Given the description of an element on the screen output the (x, y) to click on. 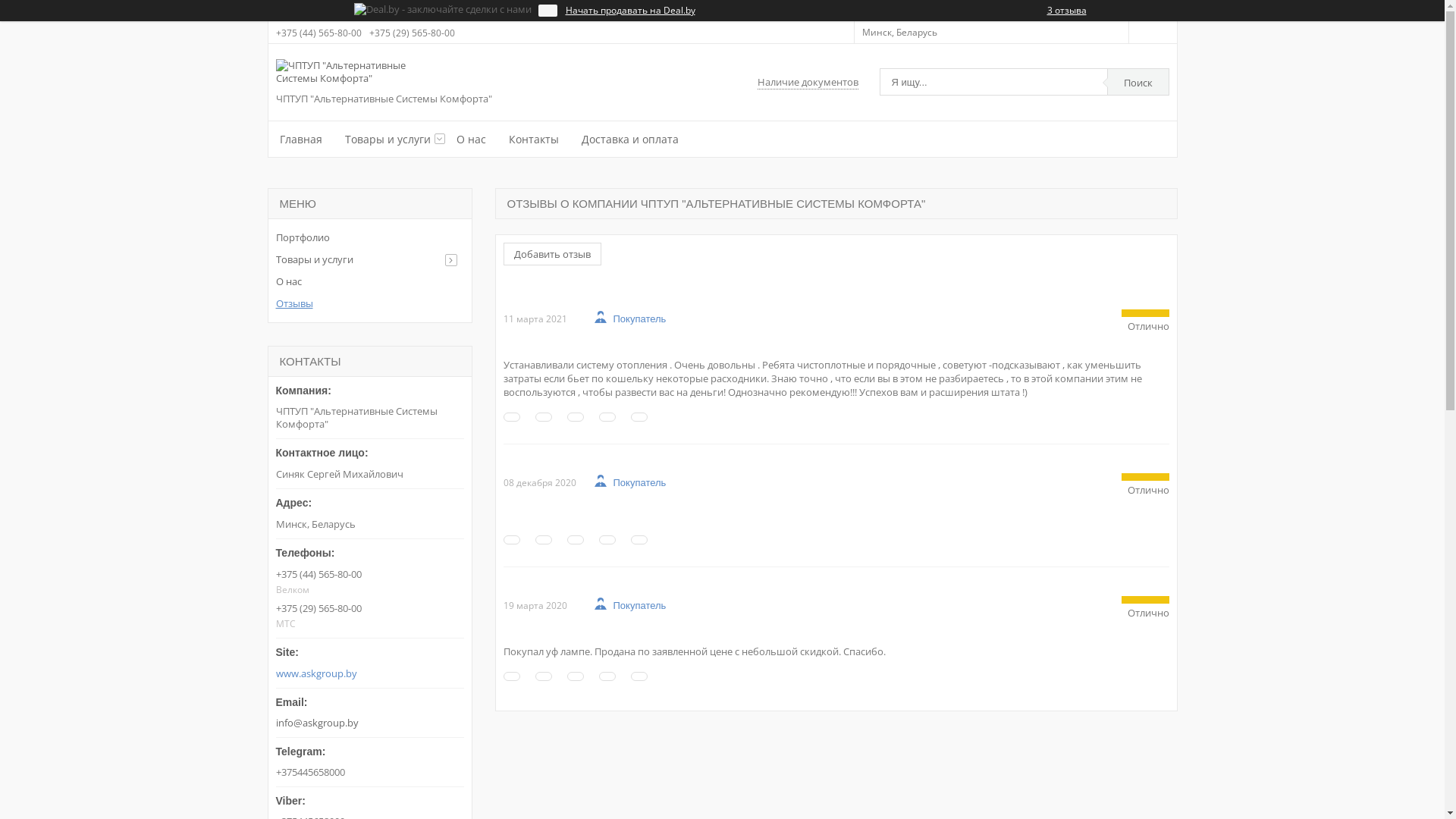
info@askgroup.by Element type: text (370, 708)
www.askgroup.by Element type: text (370, 673)
